Given the description of an element on the screen output the (x, y) to click on. 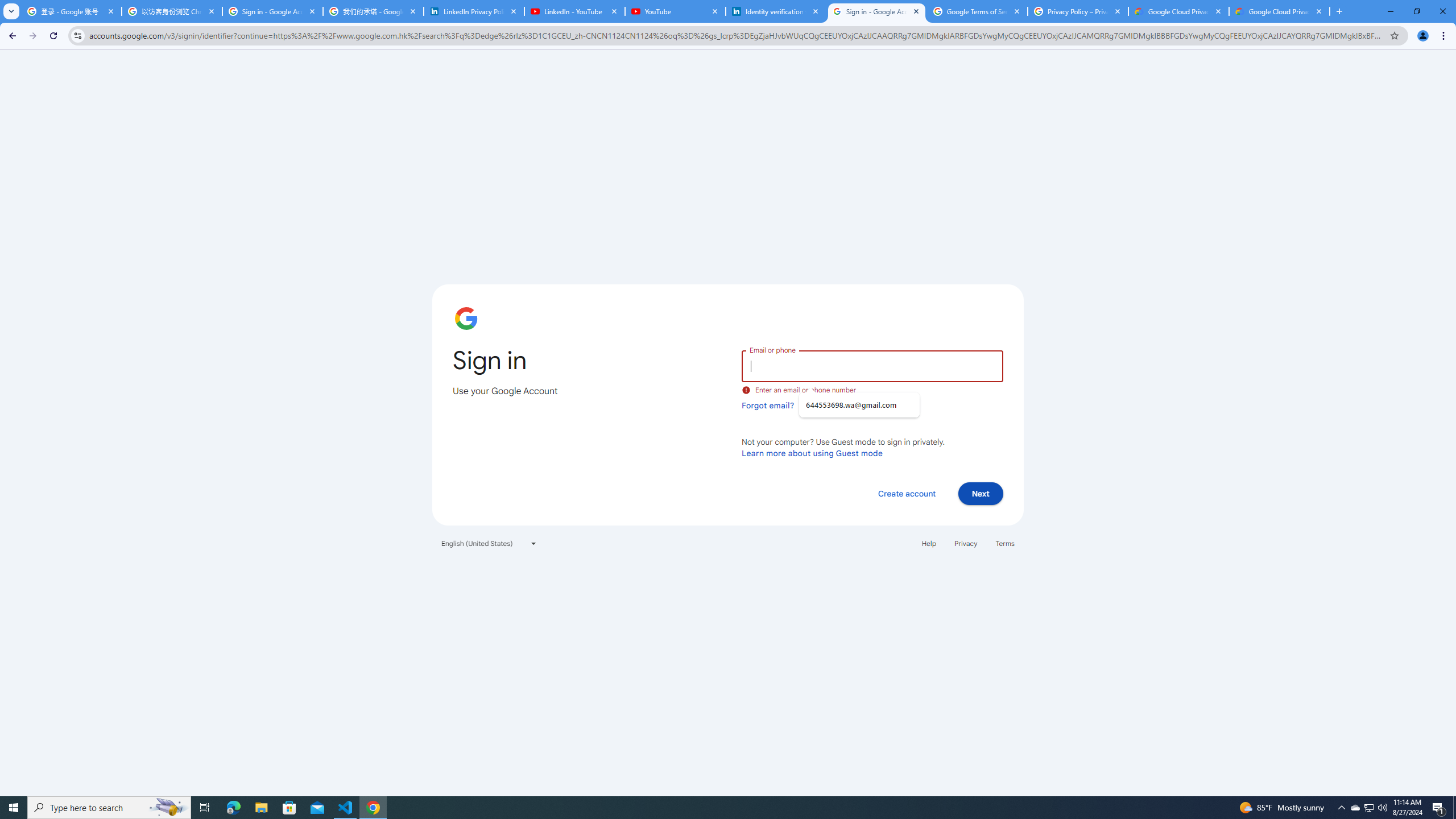
English (United States) (489, 542)
YouTube (675, 11)
